Given the description of an element on the screen output the (x, y) to click on. 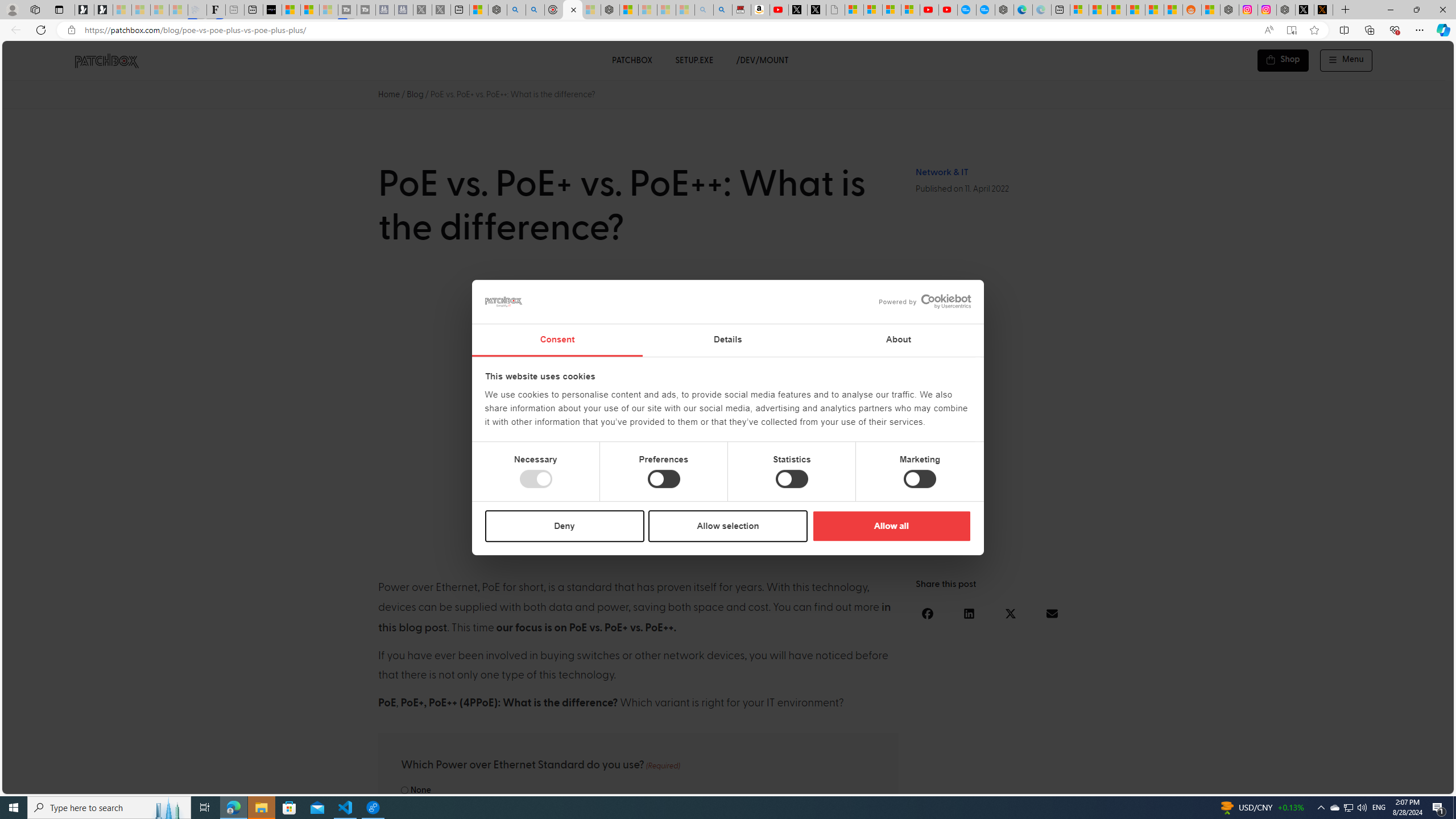
/DEV/MOUNT (762, 60)
Shop (1282, 60)
poe - Search (515, 9)
Language switcher : Spanish (1254, 782)
Language switcher : Finnish (1391, 782)
Language switcher : Croatian (1322, 782)
Language switcher : Greek (1380, 782)
